Given the description of an element on the screen output the (x, y) to click on. 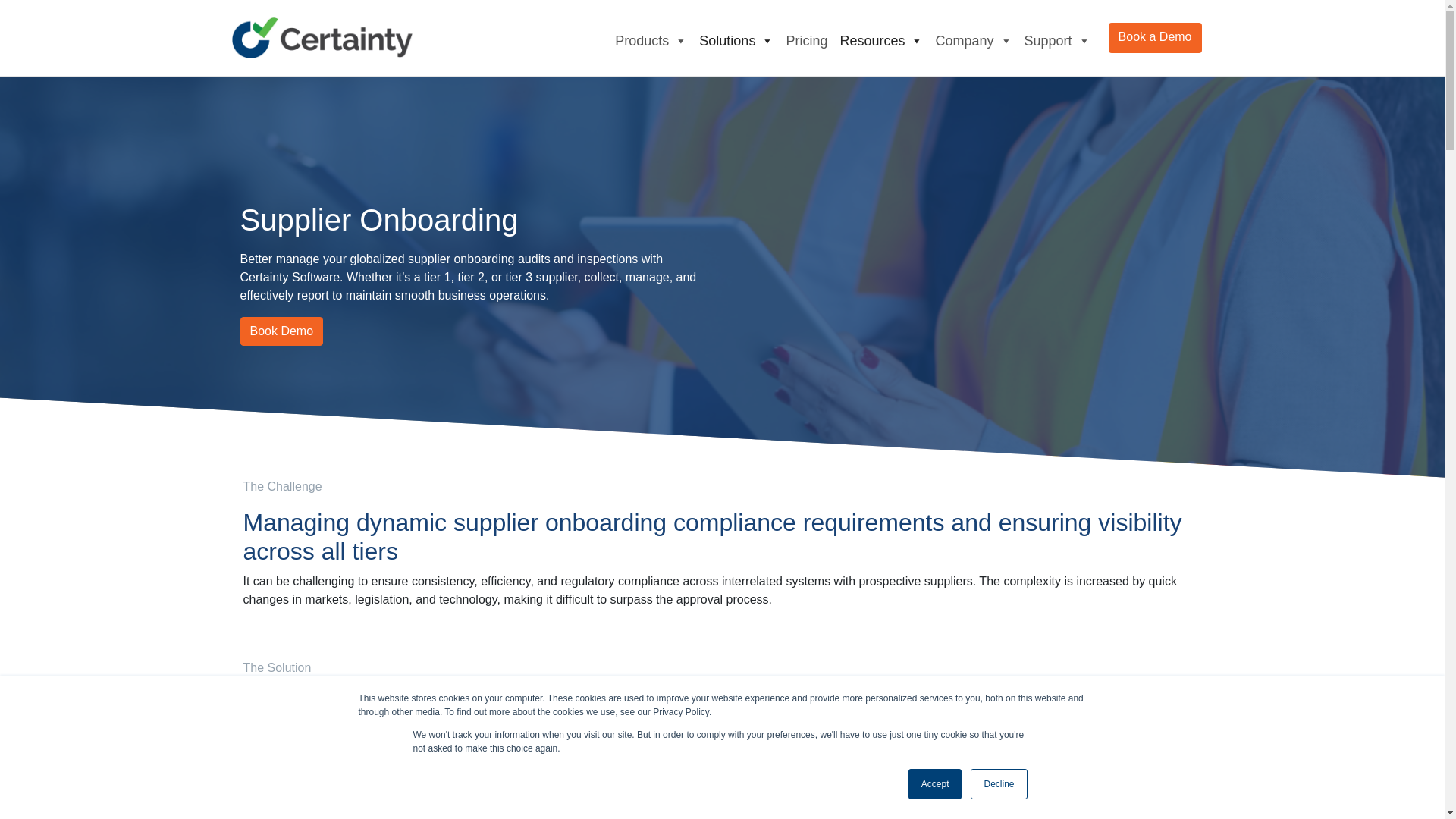
Products (650, 37)
Resources (880, 37)
Accept (935, 784)
Pricing (805, 37)
Solutions (735, 37)
Decline (998, 784)
